Given the description of an element on the screen output the (x, y) to click on. 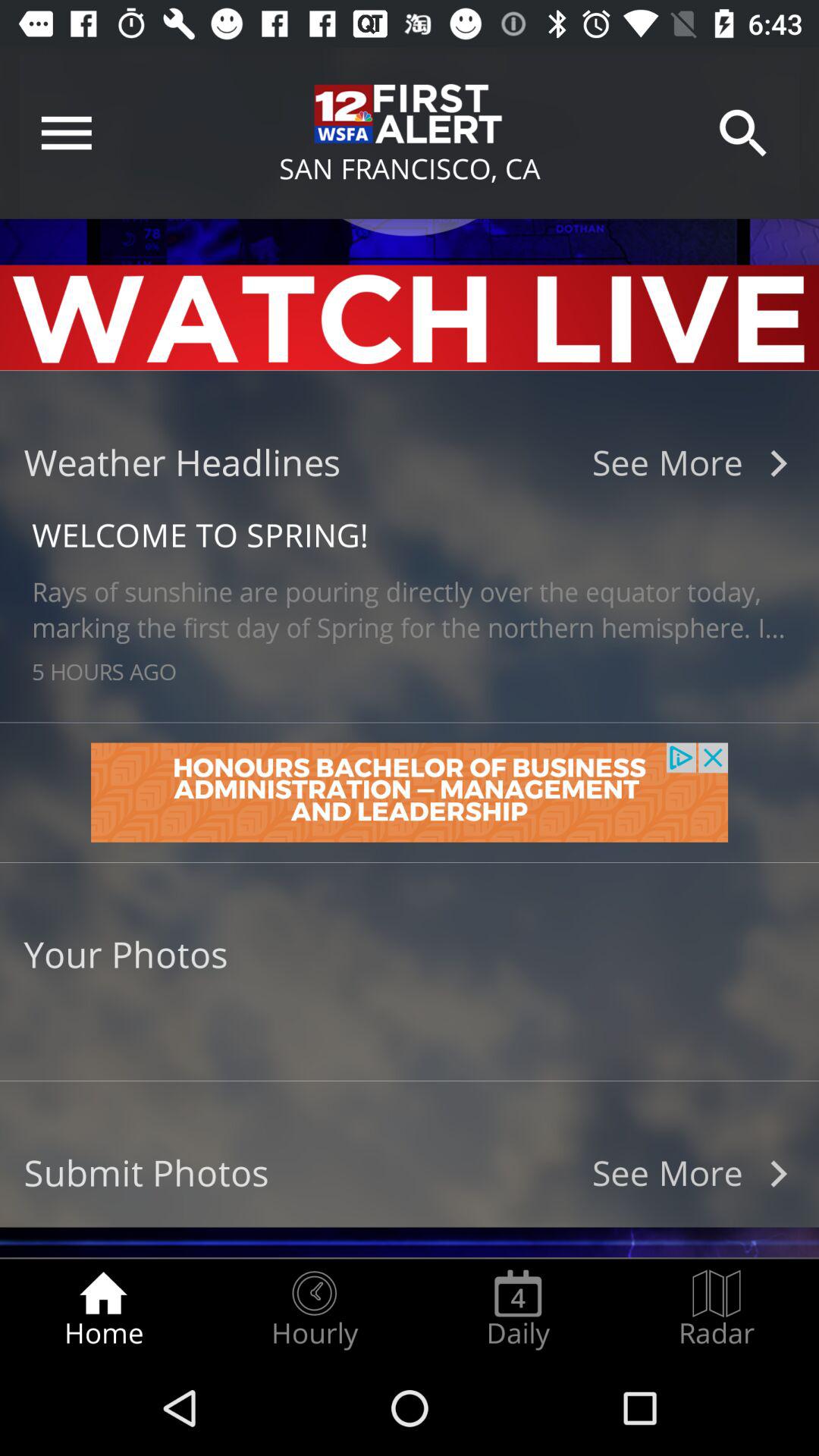
turn off radio button next to the radar icon (518, 1309)
